Given the description of an element on the screen output the (x, y) to click on. 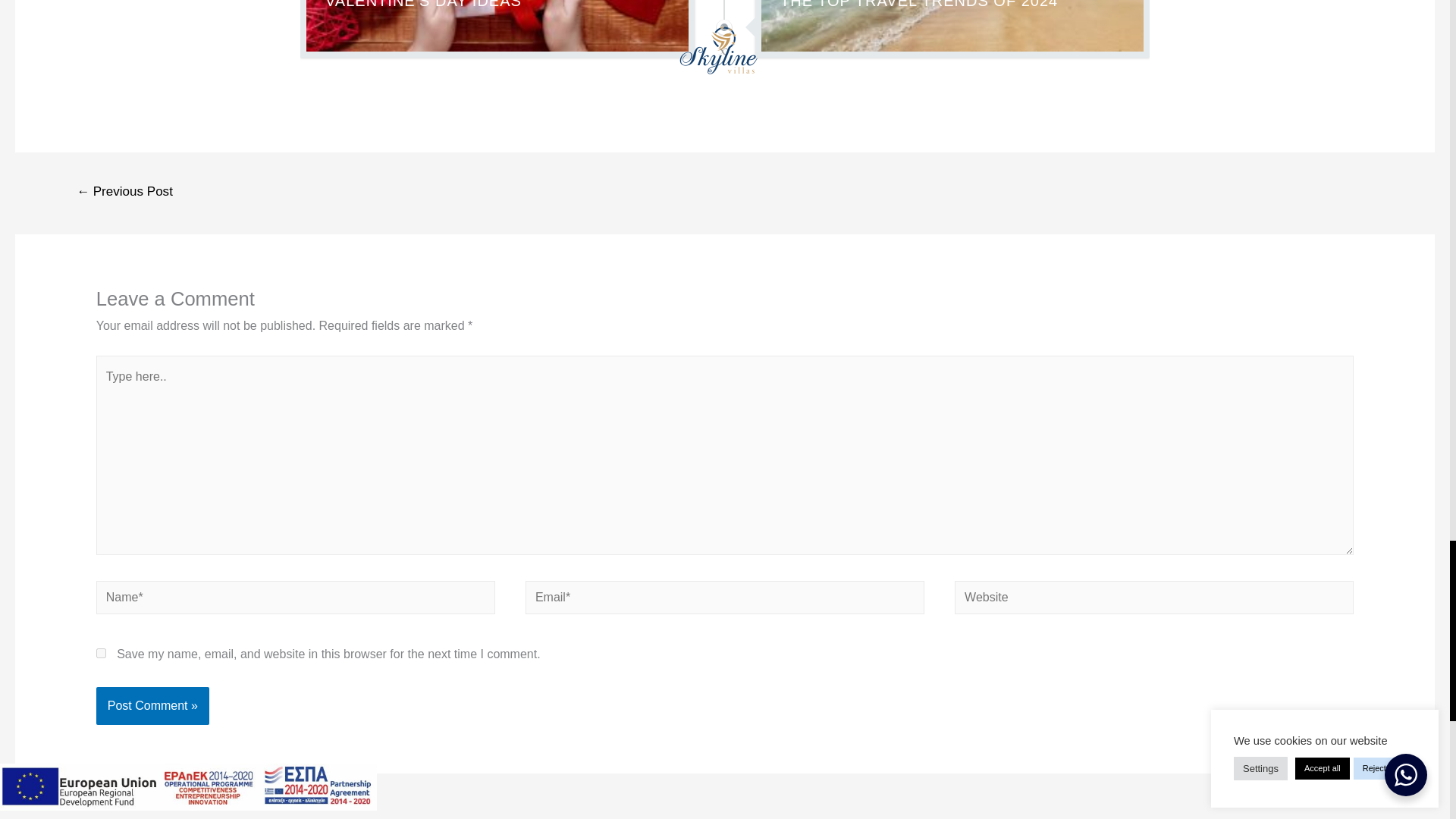
yes (101, 653)
The Top Travel Trends of 2024 (951, 25)
